Given the description of an element on the screen output the (x, y) to click on. 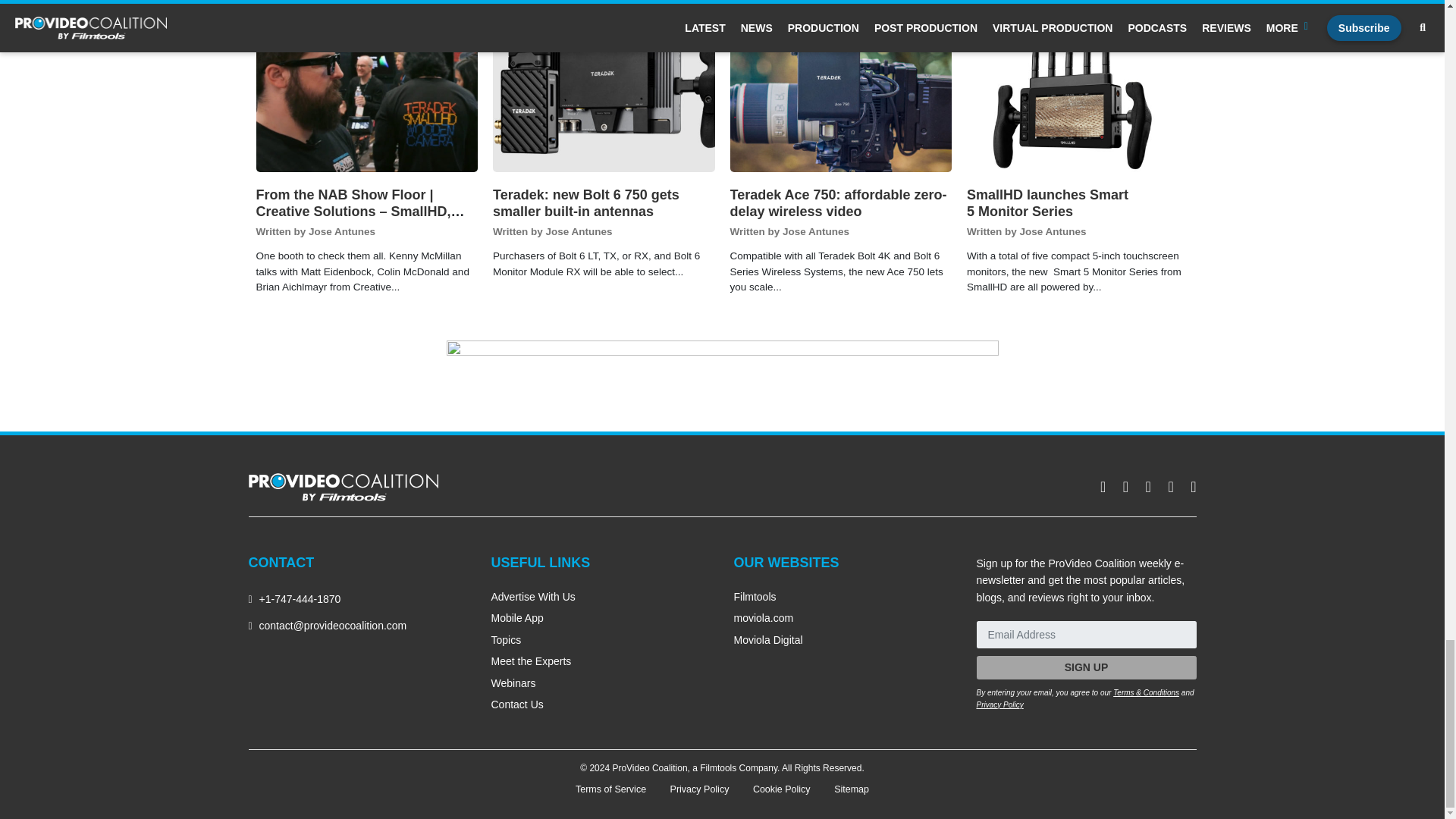
SIGN UP (1086, 667)
